Given the description of an element on the screen output the (x, y) to click on. 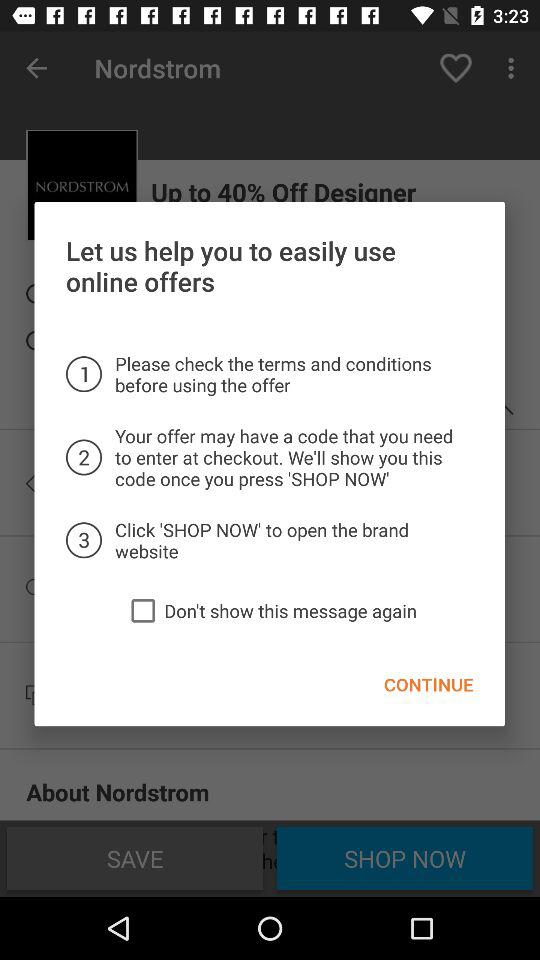
agreement button (143, 610)
